Given the description of an element on the screen output the (x, y) to click on. 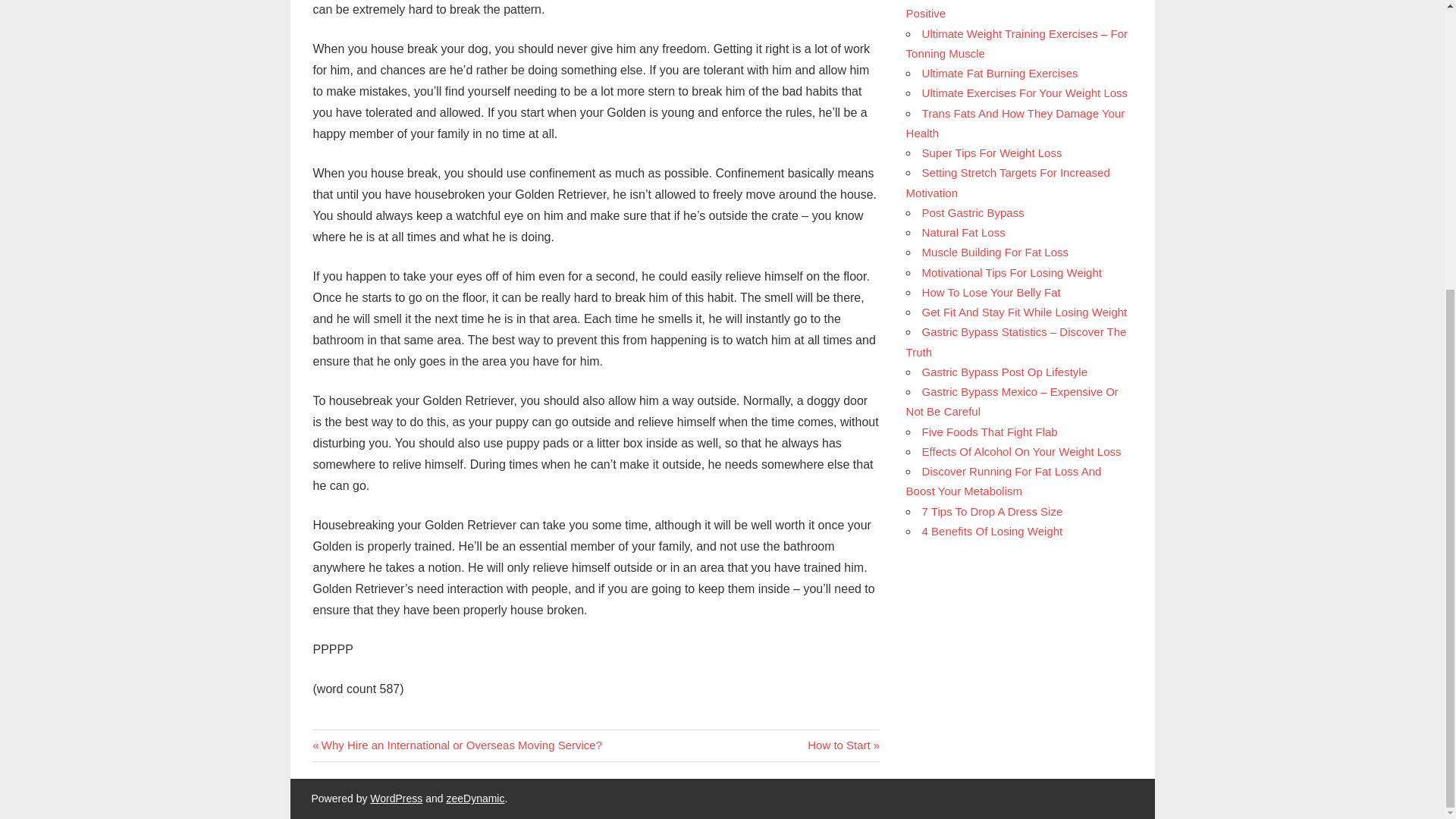
WordPress (395, 798)
zeeDynamic (474, 798)
Effects Of Alcohol On Your Weight Loss (1021, 451)
Ultimate Exercises For Your Weight Loss (1024, 92)
Muscle Building For Fat Loss (994, 251)
Natural Fat Loss (843, 744)
zeeDynamic WordPress Theme (963, 232)
Discover Running For Fat Loss And Boost Your Metabolism (474, 798)
4 Benefits Of Losing Weight (1003, 481)
